Given the description of an element on the screen output the (x, y) to click on. 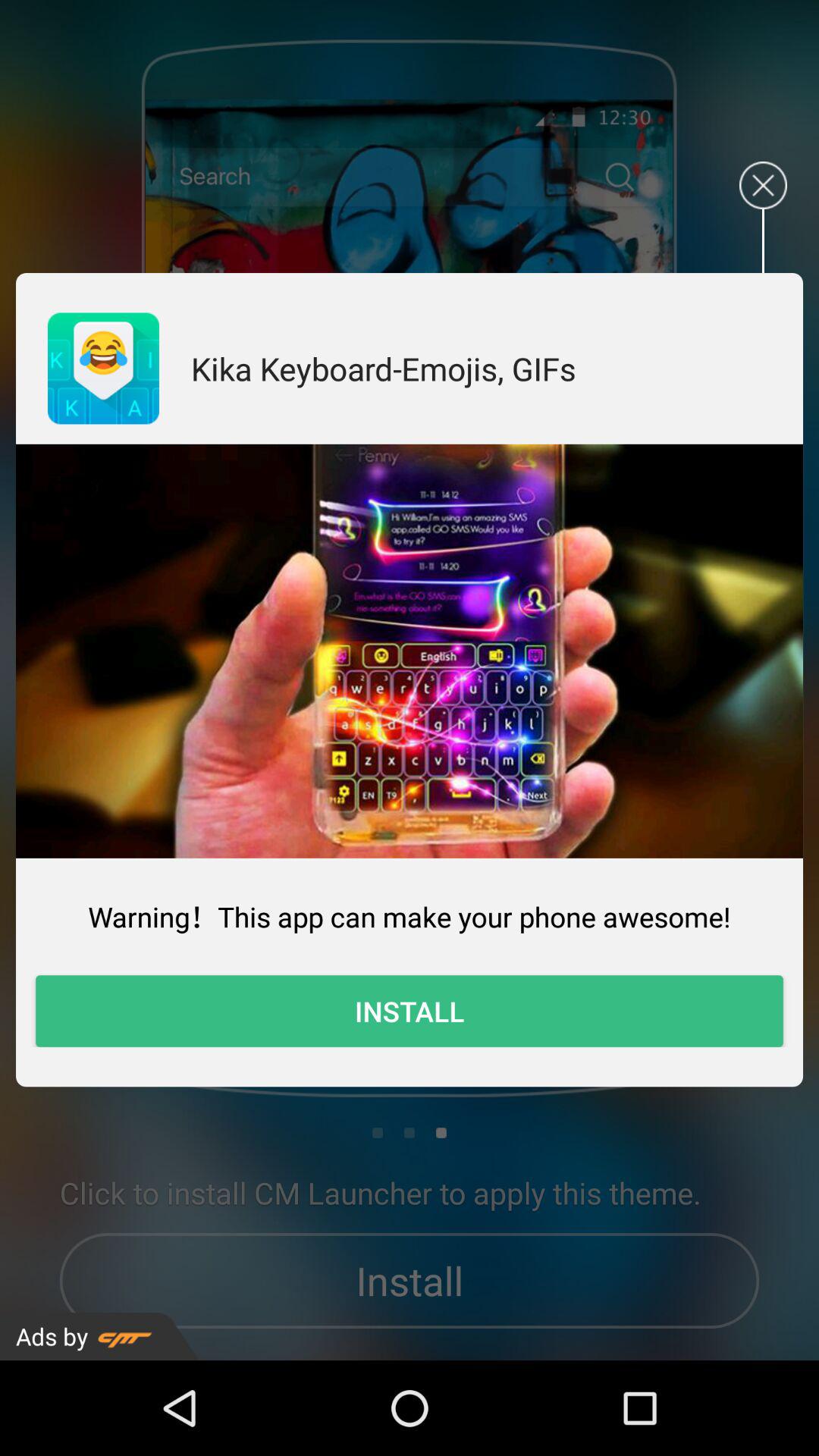
select item above the install icon (409, 916)
